Given the description of an element on the screen output the (x, y) to click on. 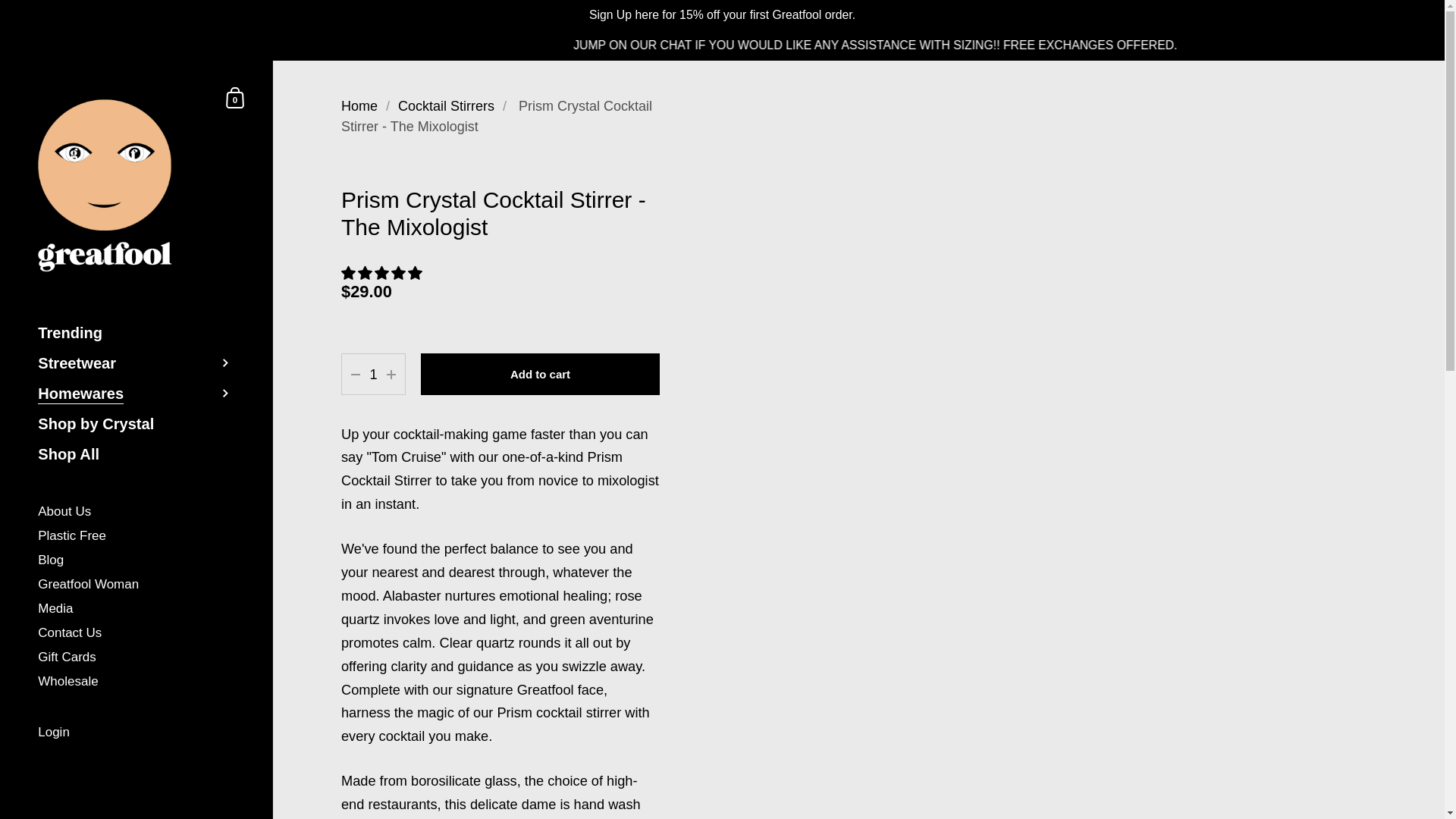
Trending (136, 332)
Shop by Crystal (136, 423)
Contact Us (136, 633)
Login (136, 733)
Homewares (136, 393)
1 (373, 374)
Shopping Cart (235, 96)
Gift Cards (136, 658)
Plastic Free (136, 536)
Streetwear (136, 363)
About Us (136, 512)
Greatfool Woman (136, 585)
Blog (136, 560)
Wholesale (136, 682)
